Given the description of an element on the screen output the (x, y) to click on. 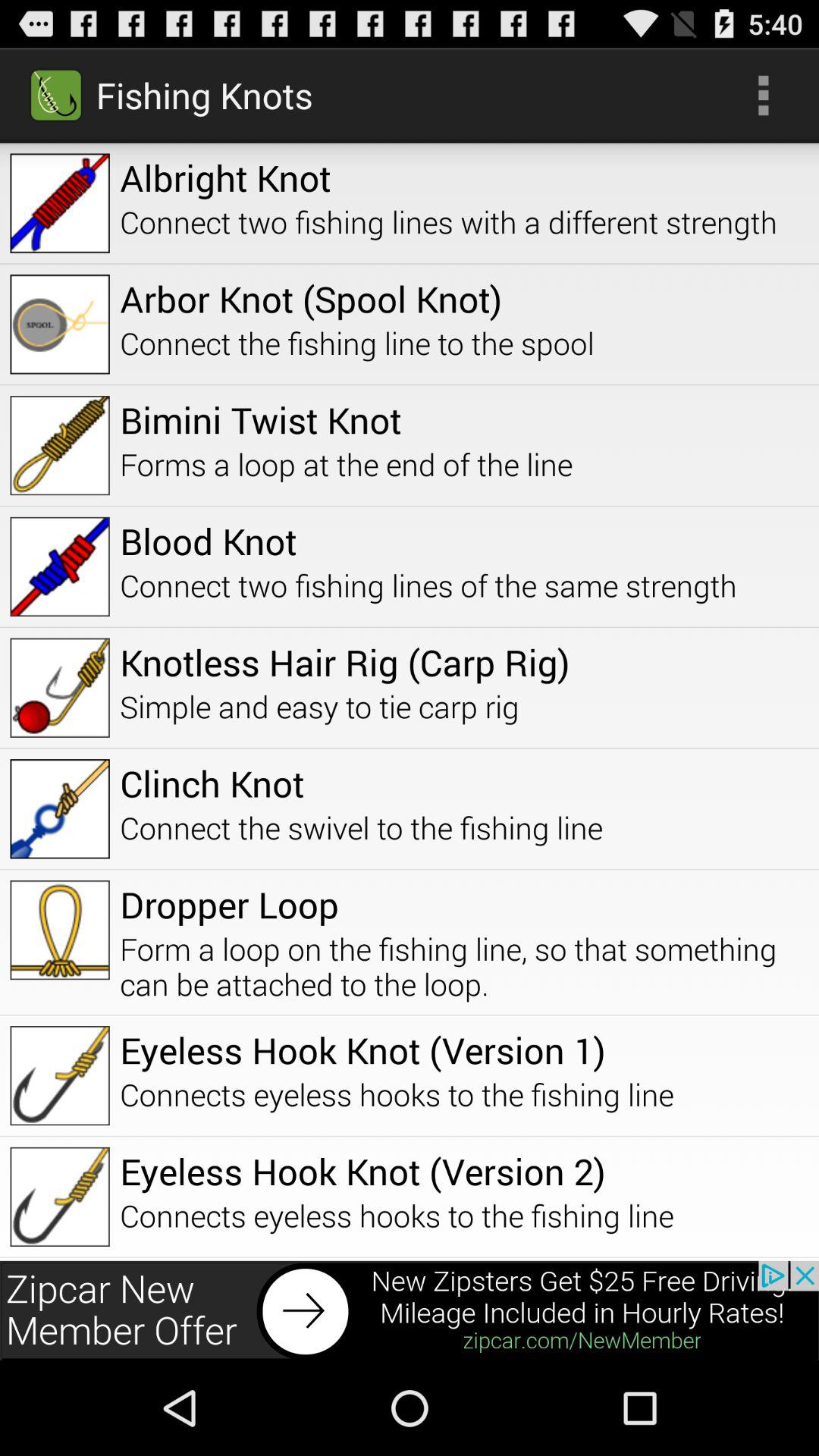
select advertisement (409, 1310)
